Given the description of an element on the screen output the (x, y) to click on. 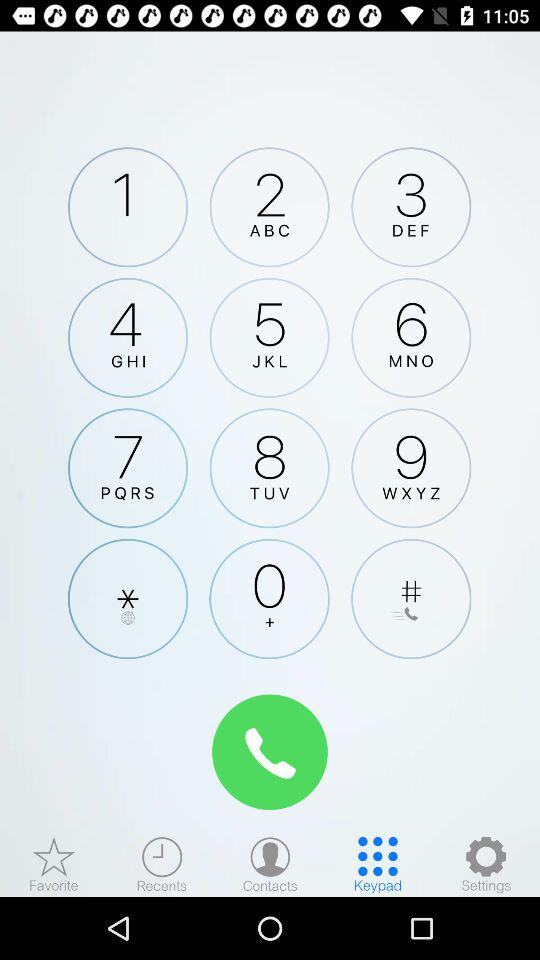
keypad number zero (269, 598)
